Given the description of an element on the screen output the (x, y) to click on. 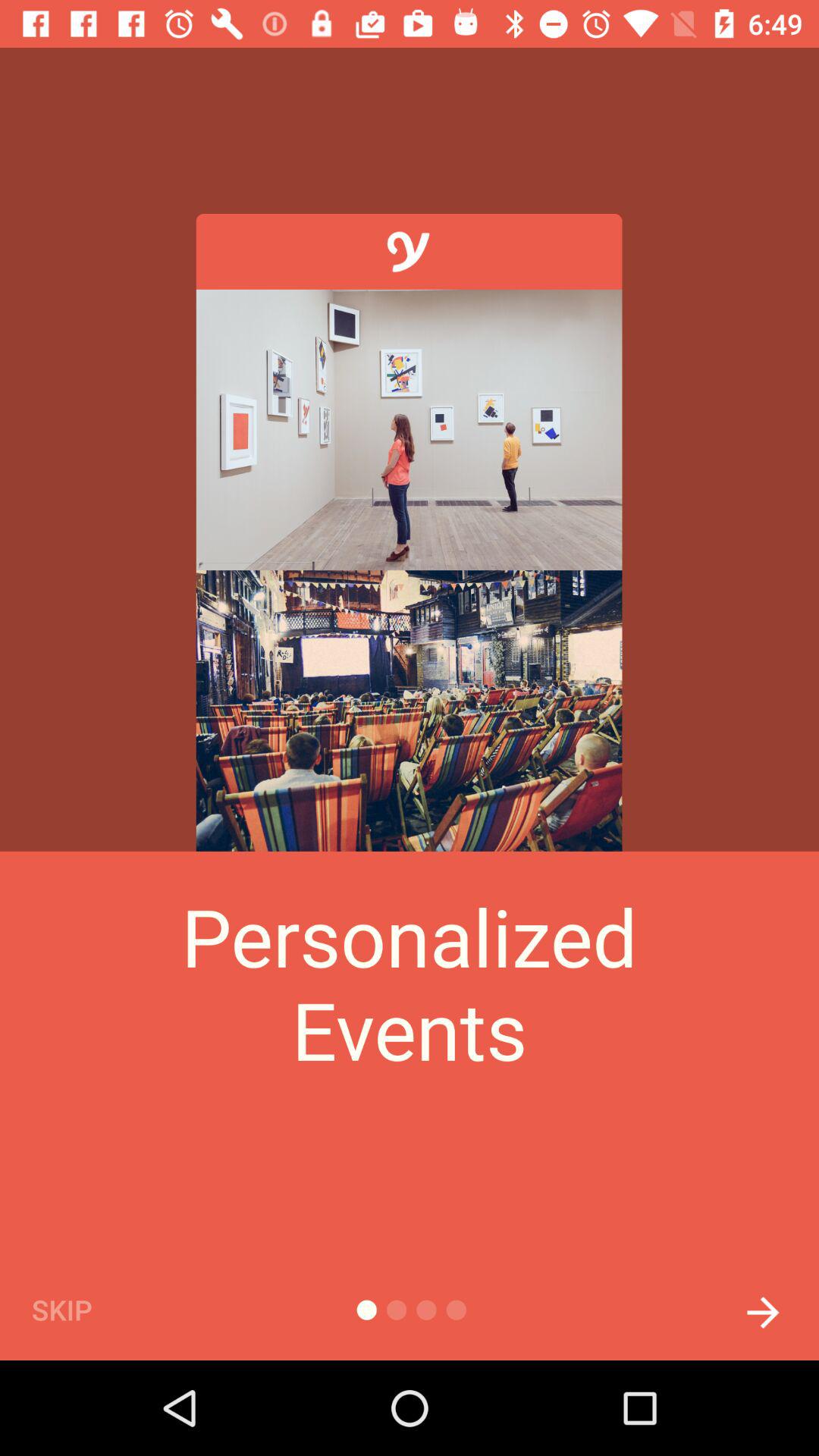
go to next (763, 1308)
